Given the description of an element on the screen output the (x, y) to click on. 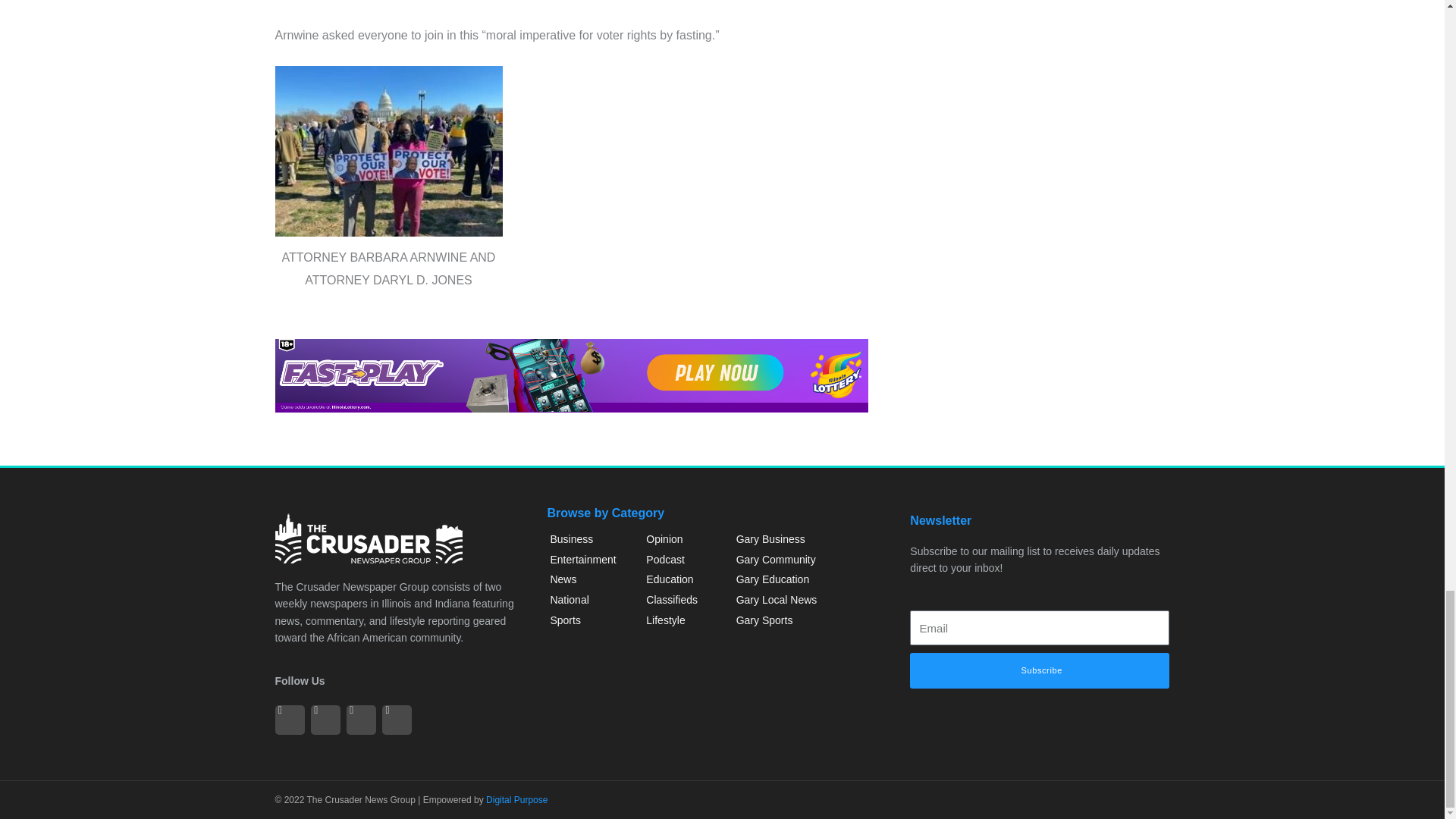
Fast Play-Lottery-Footer-July 2024 (571, 375)
